Given the description of an element on the screen output the (x, y) to click on. 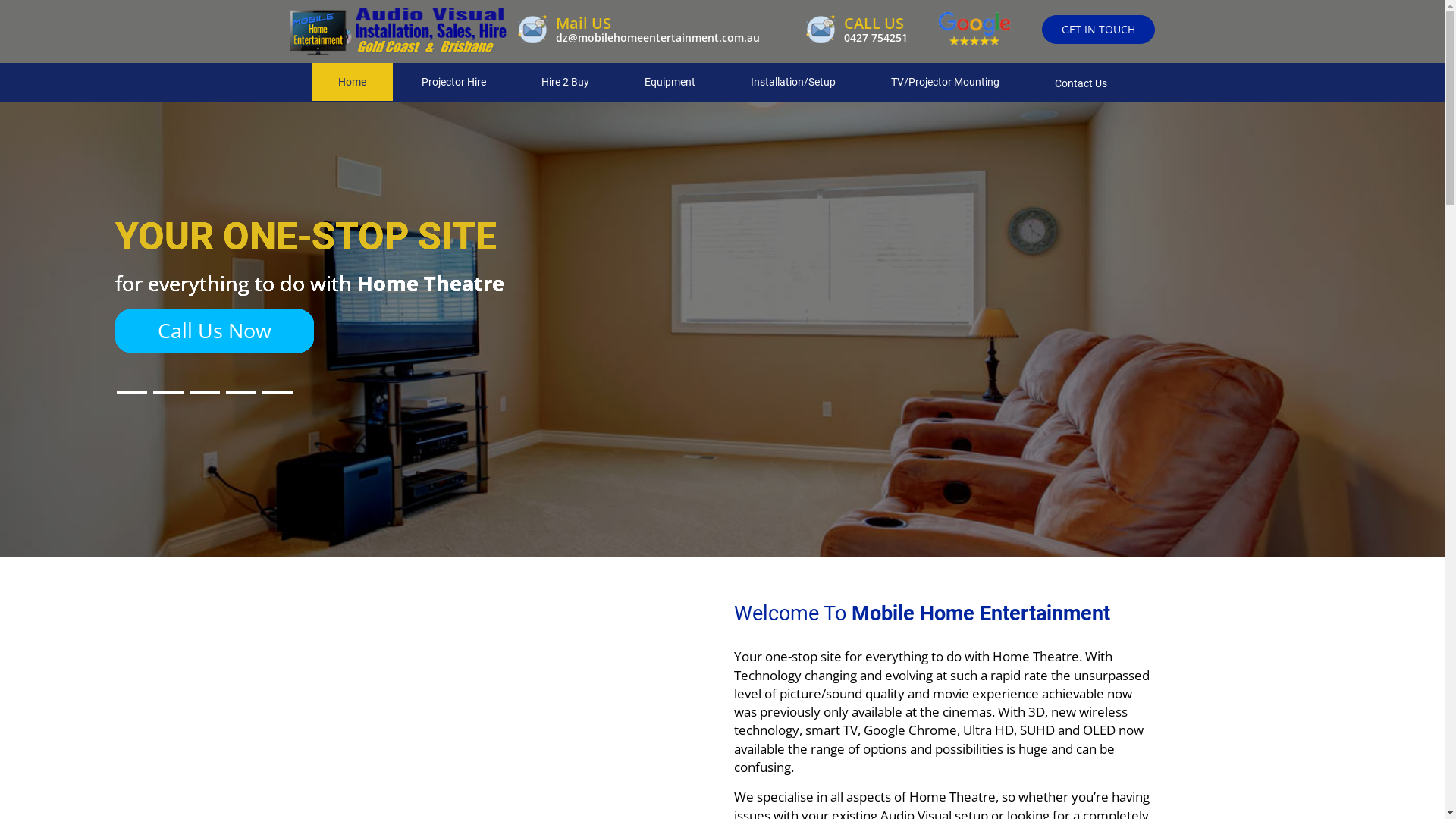
Home Element type: text (351, 81)
dz@mobilehomeentertainment.com.au Element type: text (657, 37)
Installation/Setup Element type: text (792, 81)
Hire 2 Buy Element type: text (564, 81)
Equipment Element type: text (669, 81)
Projector Hire Element type: text (452, 81)
Contact Us Element type: text (1080, 83)
TV/Projector Mounting Element type: text (945, 81)
Call Us Now Element type: text (214, 330)
0427 754251 Element type: text (874, 37)
GET IN TOUCH Element type: text (1097, 29)
